Given the description of an element on the screen output the (x, y) to click on. 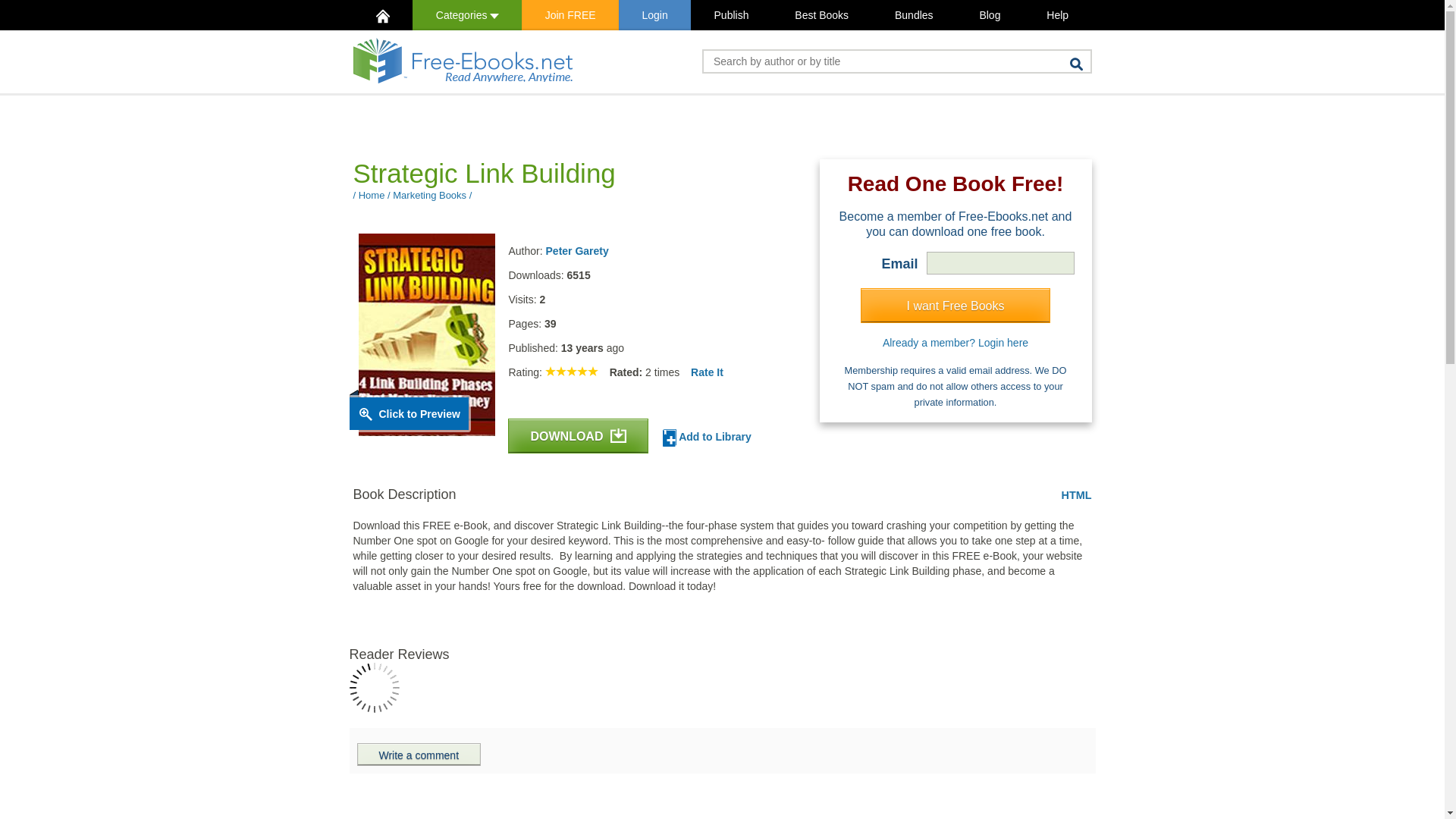
Write a comment (418, 753)
Categories (466, 15)
